Given the description of an element on the screen output the (x, y) to click on. 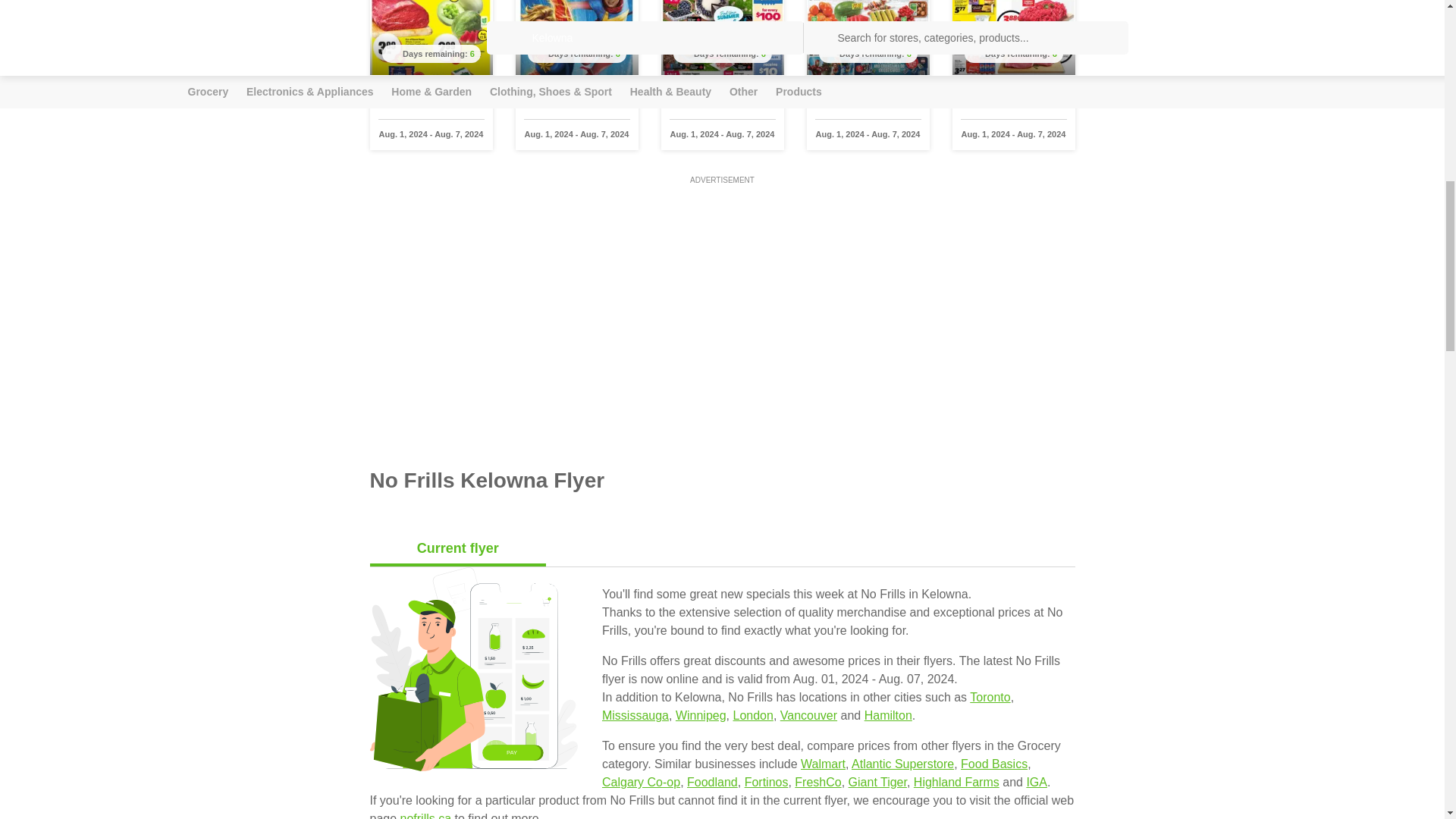
Giant Tiger (877, 781)
Fortinos (766, 781)
Vancouver (808, 715)
Toronto (989, 697)
Mississauga (635, 715)
Hamilton (888, 715)
London (752, 715)
Foodland (712, 781)
FreshCo (817, 781)
Winnipeg (700, 715)
Walmart (822, 763)
Food Basics (993, 763)
Calgary Co-op (640, 781)
Atlantic Superstore (902, 763)
